Given the description of an element on the screen output the (x, y) to click on. 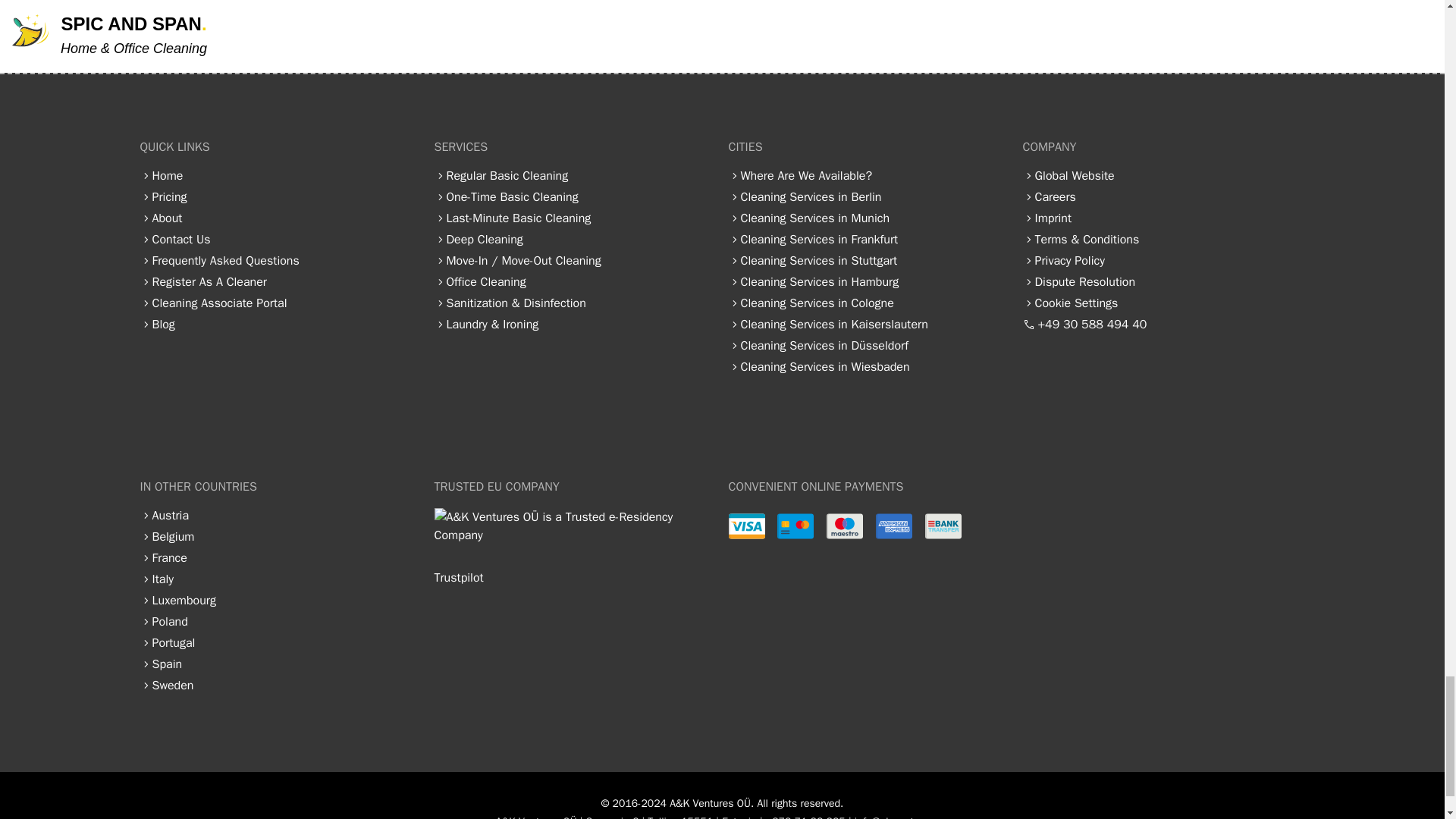
About (166, 218)
Regular Basic Cleaning (506, 175)
Last-Minute Basic Cleaning (518, 218)
One-Time Basic Cleaning (511, 196)
Pricing (168, 196)
Contact Us (180, 239)
Cleaning Associate Portal (218, 303)
Blog (162, 324)
Frequently Asked Questions (224, 260)
Office Cleaning (485, 281)
